Given the description of an element on the screen output the (x, y) to click on. 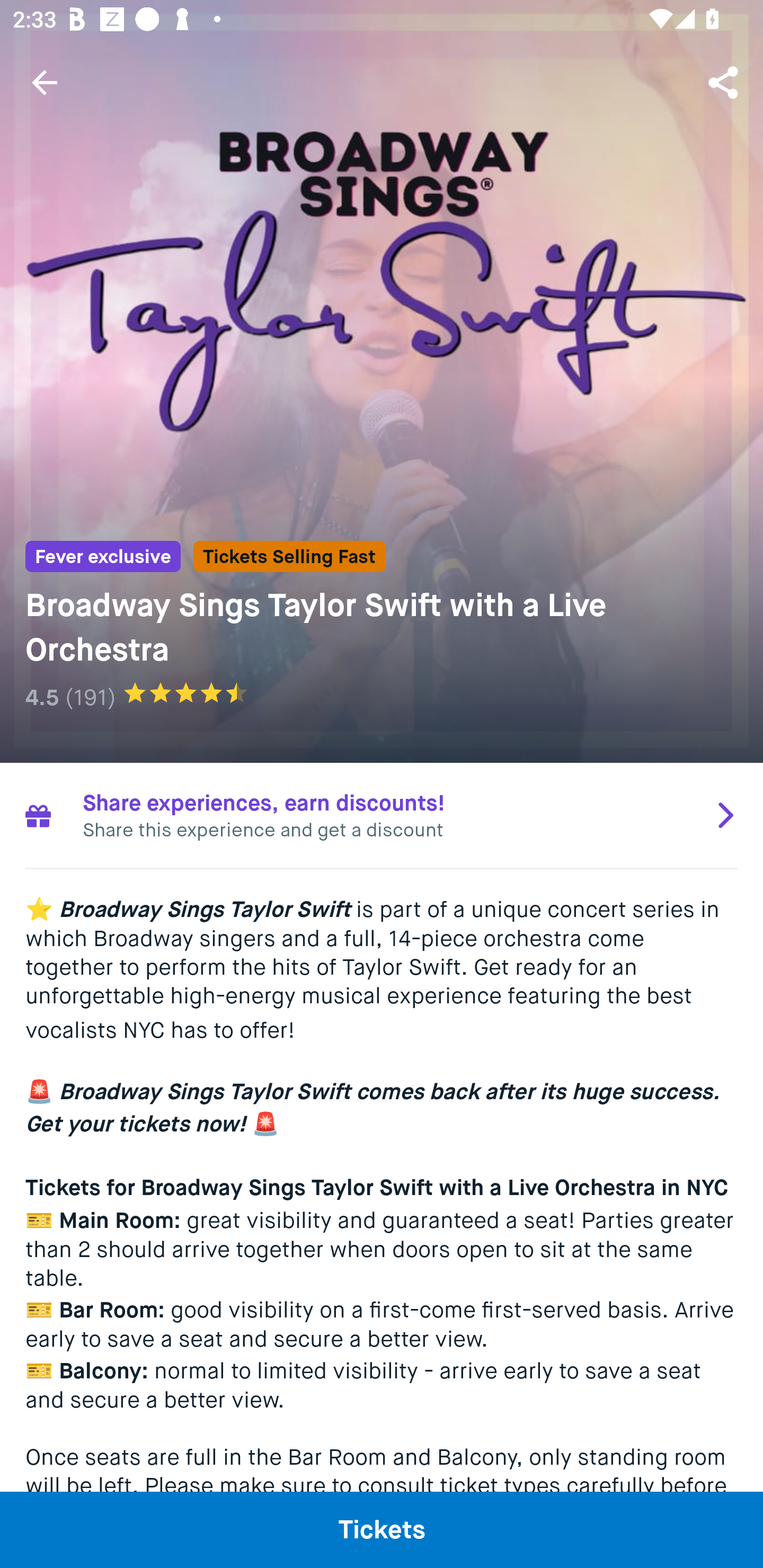
Navigate up (44, 82)
Share (724, 81)
(191) (89, 697)
Tickets (381, 1529)
